Given the description of an element on the screen output the (x, y) to click on. 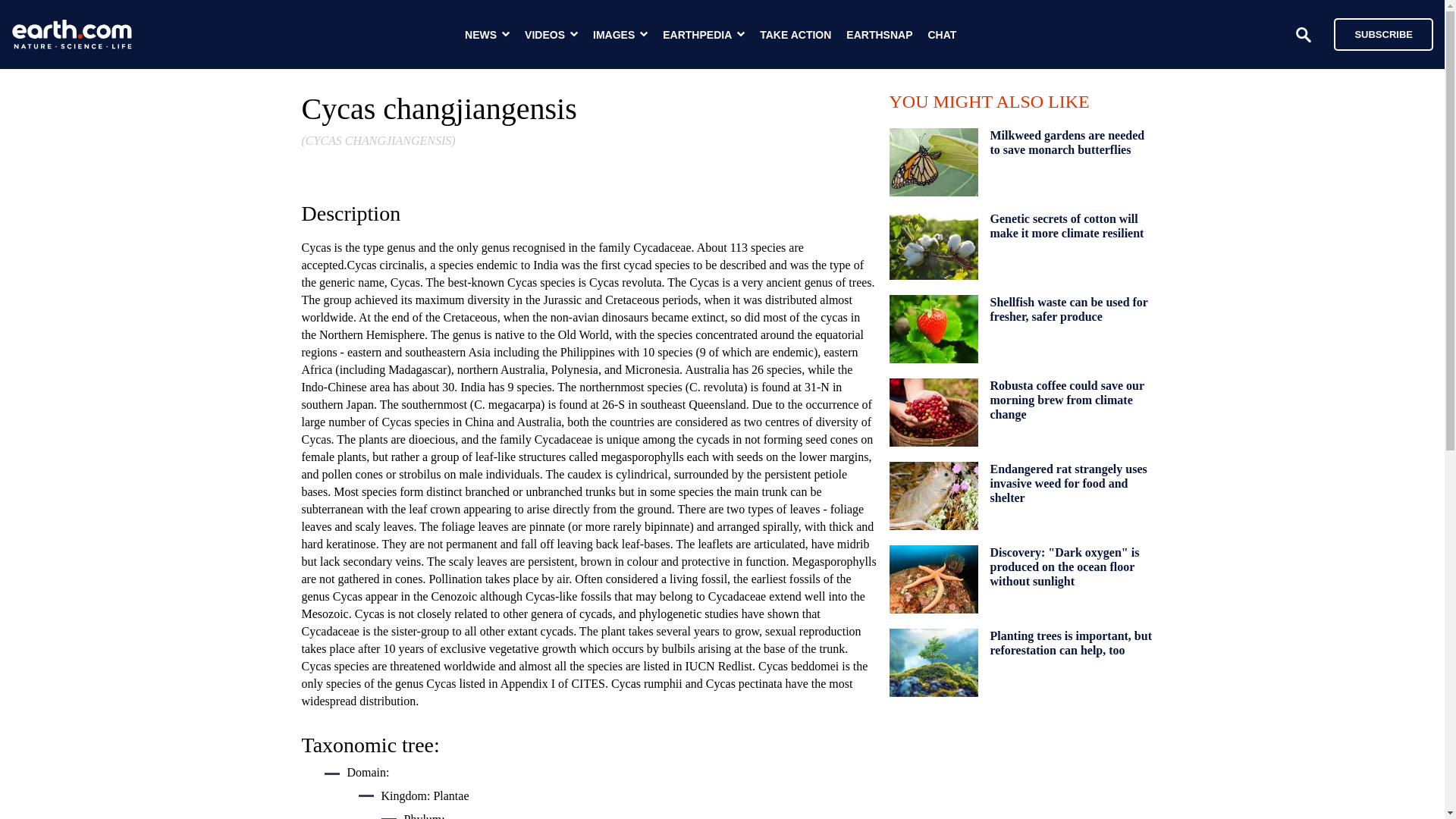
SUBSCRIBE (1375, 33)
Milkweed gardens are needed to save monarch butterflies (1067, 142)
CHAT (941, 34)
SUBSCRIBE (1382, 34)
Planting trees is important, but reforestation can help, too (1070, 642)
Shellfish waste can be used for fresher, safer produce (1069, 309)
EARTHSNAP (878, 34)
TAKE ACTION (795, 34)
